Given the description of an element on the screen output the (x, y) to click on. 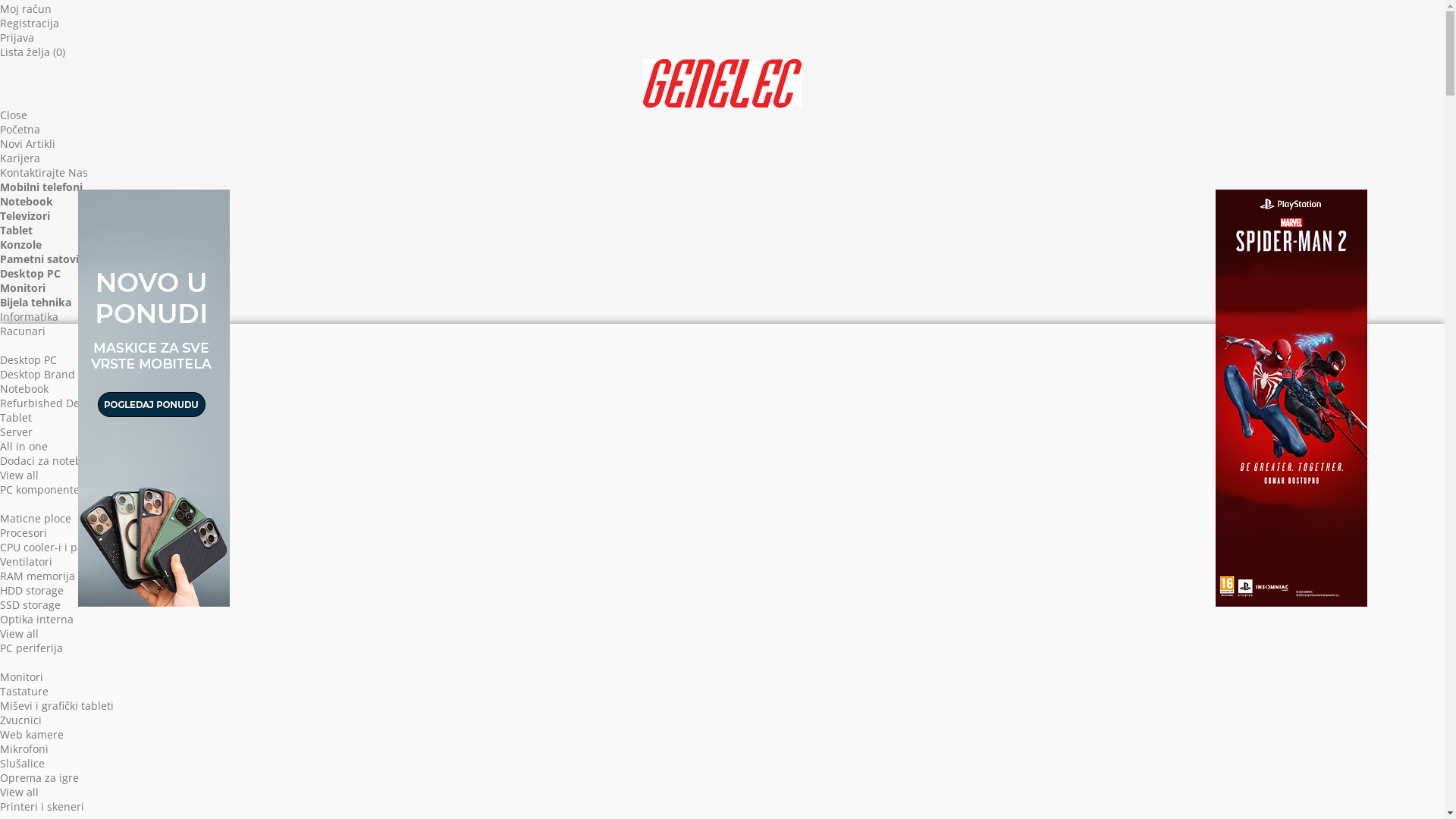
SSD storage Element type: text (30, 604)
All in one Element type: text (23, 446)
Desktop Brand Name Element type: text (54, 374)
View all Element type: text (19, 791)
PC komponente Element type: text (39, 489)
Refurbished Desktop Element type: text (53, 402)
RAM memorija Element type: text (37, 575)
Notebook Element type: text (26, 201)
Bijela tehnika Element type: text (35, 301)
Televizori Element type: text (25, 215)
Karijera Element type: text (20, 157)
Oprema za igre Element type: text (39, 777)
Konzole Element type: text (20, 244)
Tablet Element type: text (15, 417)
HDD storage Element type: text (31, 590)
PC periferija Element type: text (31, 647)
Mikrofoni Element type: text (24, 748)
Racunari Element type: text (22, 330)
Dodaci za notebook Element type: text (49, 460)
View all Element type: text (19, 474)
Desktop PC Element type: text (30, 273)
Novi Artikli Element type: text (27, 143)
Desktop PC Element type: text (28, 359)
Informatika Element type: text (29, 316)
View all Element type: text (19, 633)
CPU cooler-i i paste Element type: text (49, 546)
Pametni satovi Element type: text (39, 258)
Tastature Element type: text (24, 691)
Kontaktirajte Nas Element type: text (43, 172)
Monitori Element type: text (21, 676)
Server Element type: text (16, 431)
Notebook Element type: text (24, 388)
Prijava Element type: text (17, 37)
Mobilni telefoni Element type: text (41, 186)
Web kamere Element type: text (31, 734)
Optika interna Element type: text (36, 618)
Tablet Element type: text (16, 229)
Procesori Element type: text (23, 532)
Maticne ploce Element type: text (35, 518)
Registracija Element type: text (29, 22)
Zvucnici Element type: text (20, 719)
Ventilatori Element type: text (26, 561)
Monitori Element type: text (22, 287)
Printeri i skeneri Element type: text (42, 806)
